Given the description of an element on the screen output the (x, y) to click on. 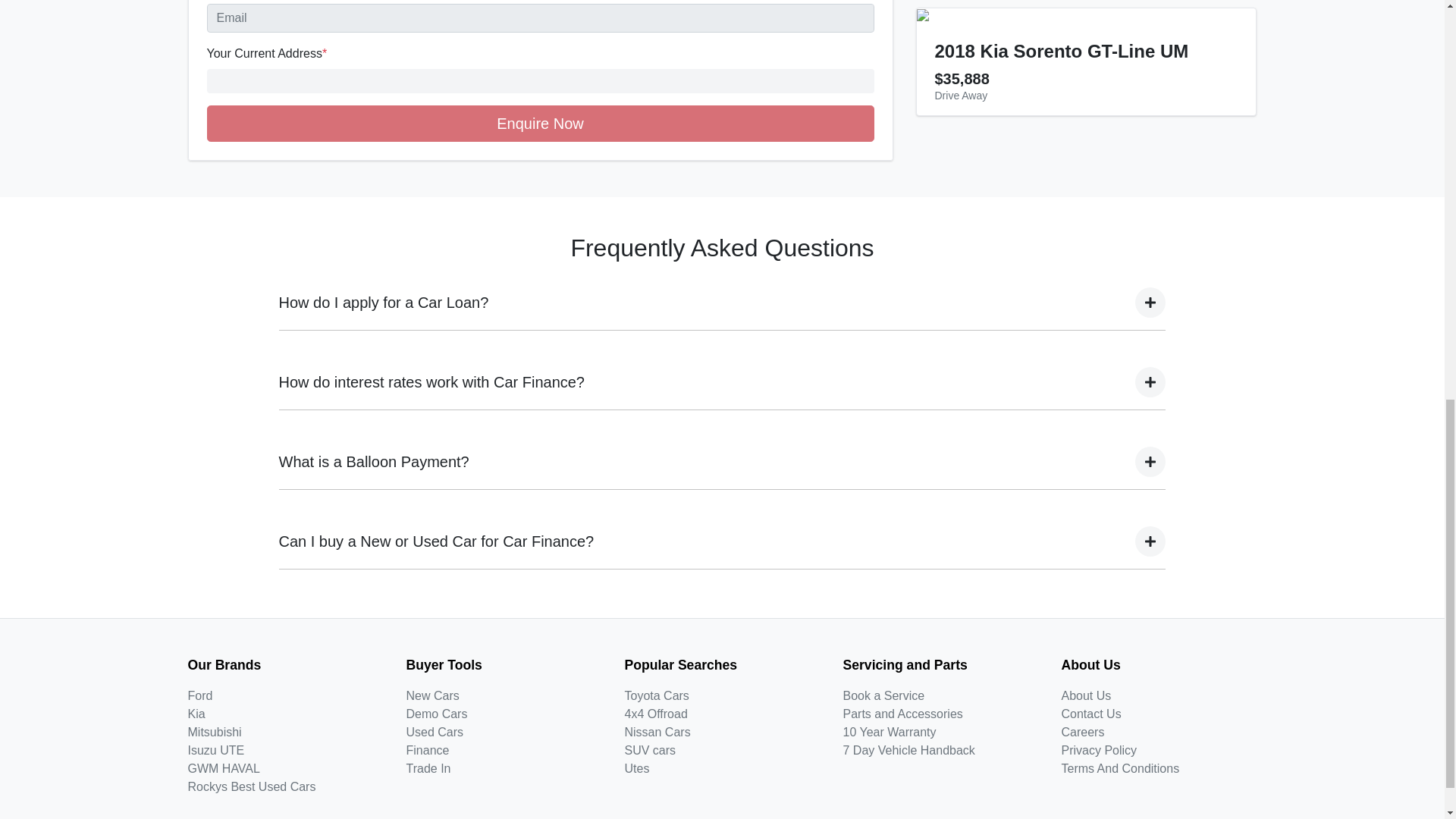
Nissan Cars (657, 731)
Book a Service (883, 695)
Parts and Accessories (902, 713)
Toyota Cars (656, 695)
New Cars (433, 695)
Trade In (428, 768)
4x4 Offroad (655, 713)
Demo Cars (436, 713)
GWM HAVAL (223, 768)
Isuzu UTE (215, 749)
Ford (199, 695)
Mitsubishi (214, 731)
SUV cars (650, 749)
Utes (636, 768)
Enquire Now (539, 123)
